Given the description of an element on the screen output the (x, y) to click on. 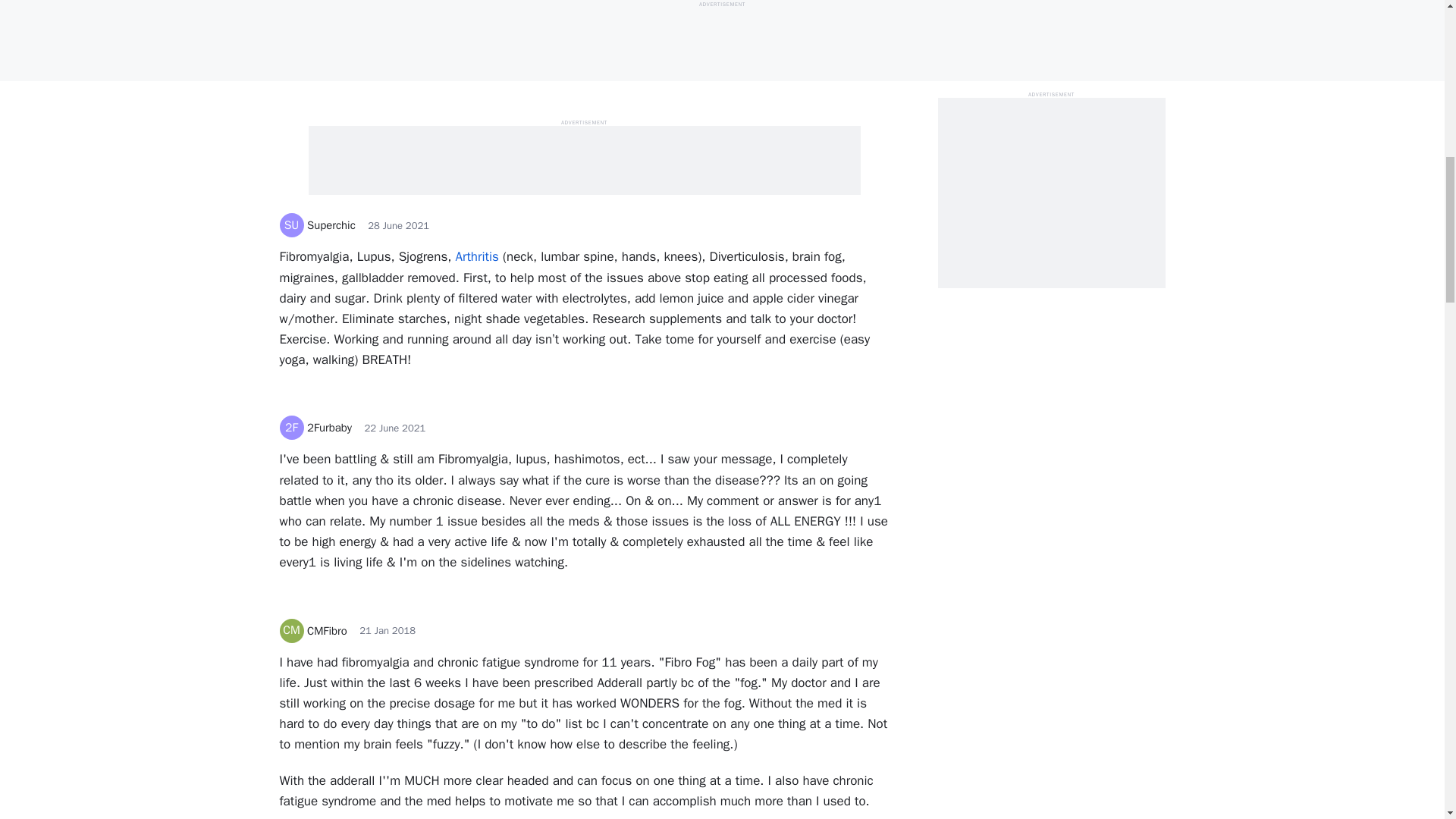
22 June 2021 4:13am (394, 427)
28 June 2021 10:29am (398, 225)
21 January 2018 2:49pm (386, 630)
